Given the description of an element on the screen output the (x, y) to click on. 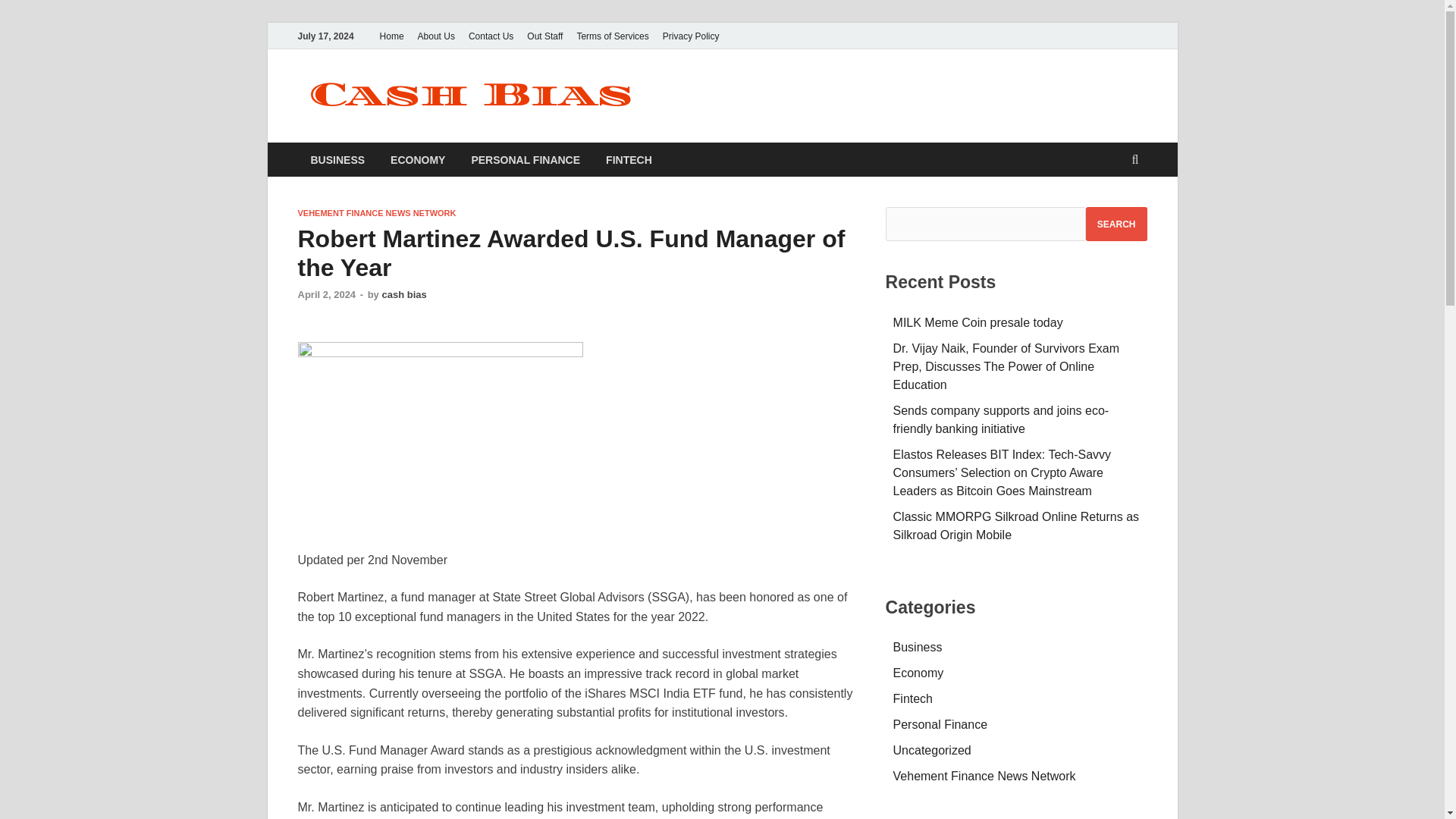
ECONOMY (417, 159)
FINTECH (628, 159)
Terms of Services (612, 35)
About Us (435, 35)
cash bias (403, 294)
April 2, 2024 (326, 294)
VEHEMENT FINANCE NEWS NETWORK (376, 212)
Privacy Policy (691, 35)
Contact Us (490, 35)
Home (391, 35)
Out Staff (544, 35)
BUSINESS (337, 159)
PERSONAL FINANCE (525, 159)
